Given the description of an element on the screen output the (x, y) to click on. 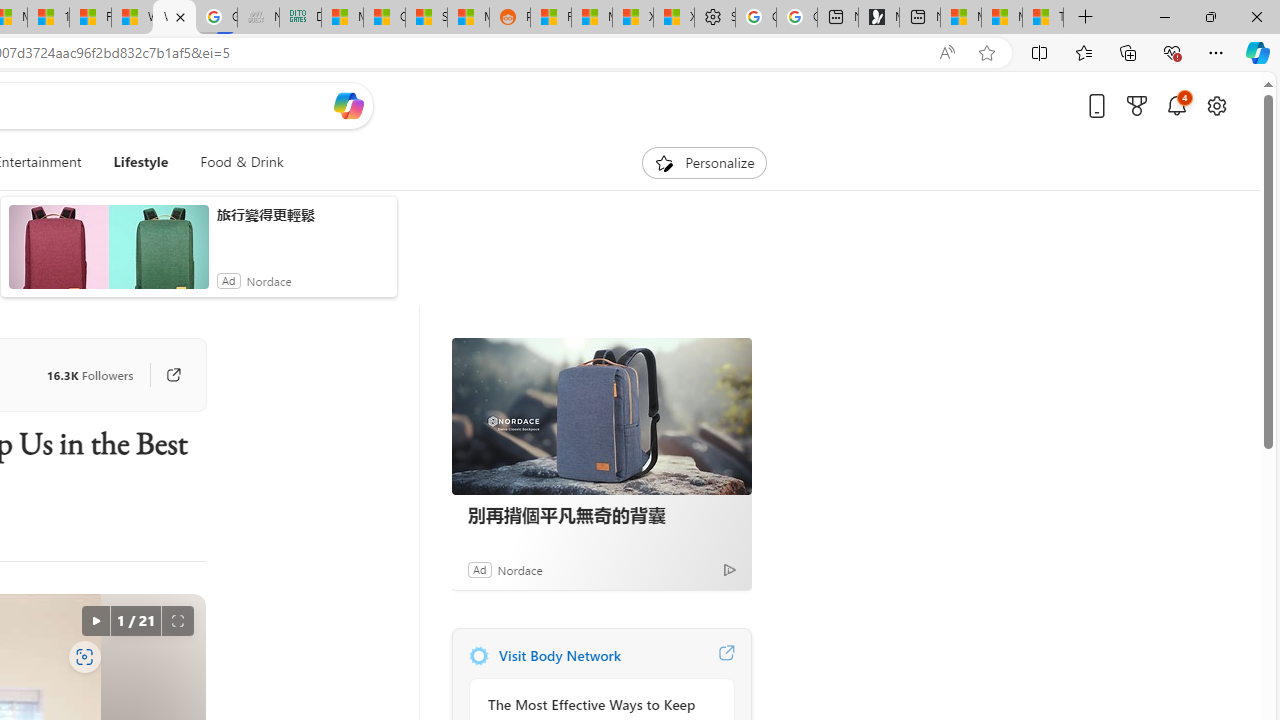
Visit Body Network website (726, 655)
